Given the description of an element on the screen output the (x, y) to click on. 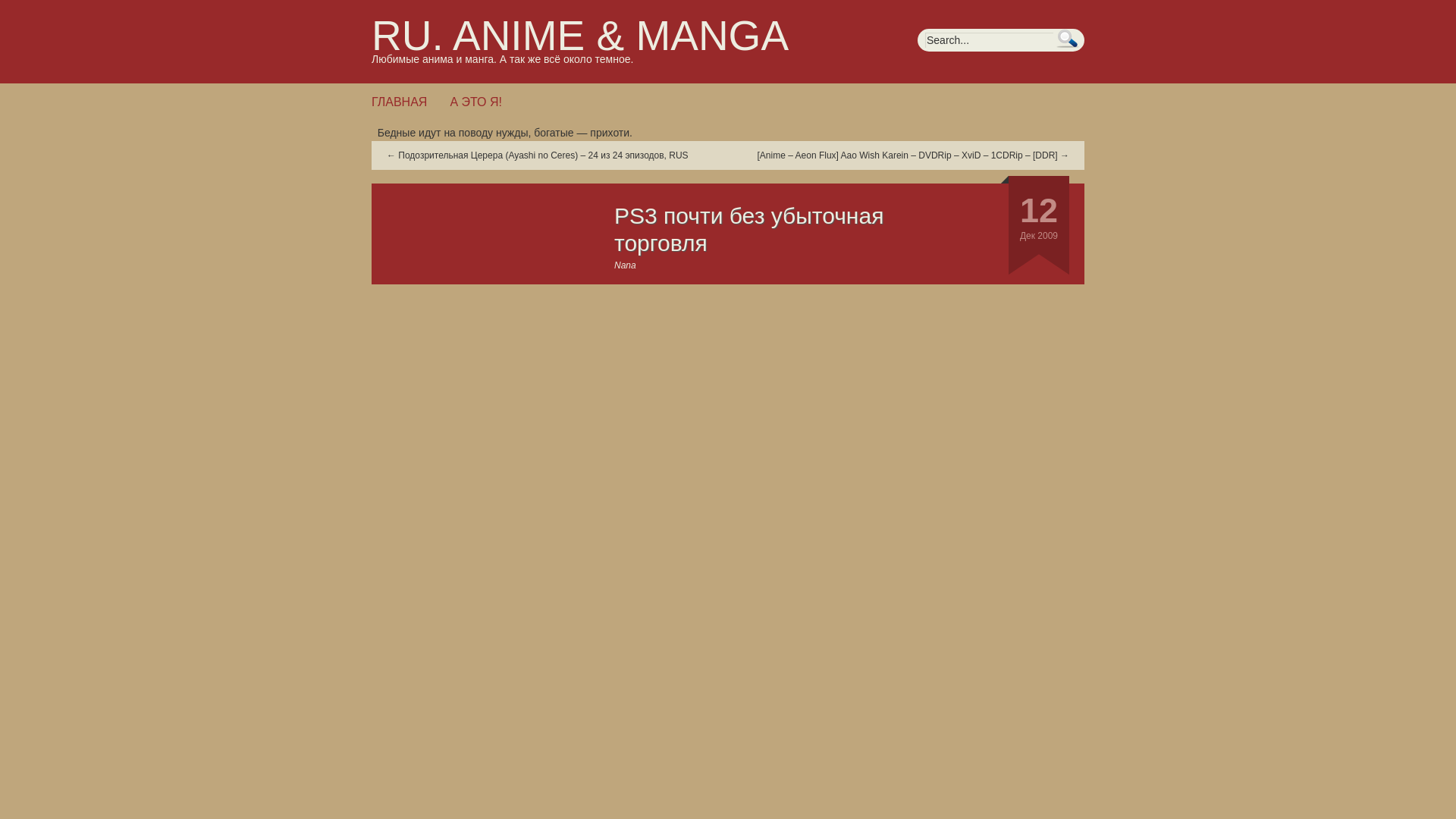
11:41 (1034, 208)
Search (1067, 37)
Search...  (988, 39)
Search...  (988, 39)
Nana (625, 265)
